Given the description of an element on the screen output the (x, y) to click on. 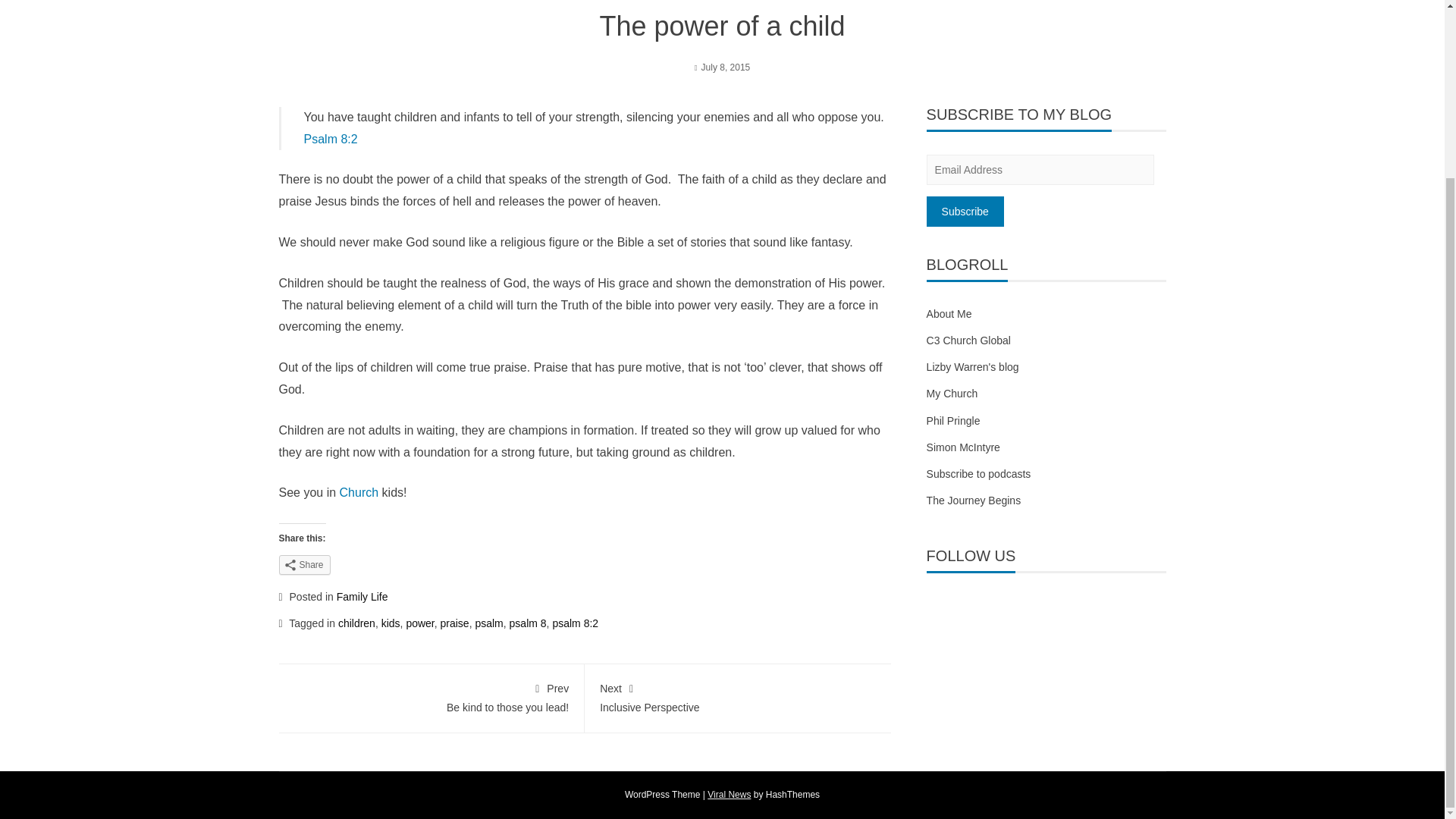
Psalm 8:2 (329, 138)
praise (454, 623)
LinkedIn (1019, 607)
kids (390, 623)
Download Viral News (729, 794)
The Journey Begins (974, 500)
Share (304, 564)
Phil Pringle (952, 420)
Preaching from C3 Church Amsterdam and Pastor Steve Warren (978, 473)
Subscribe to podcasts (978, 473)
